Given the description of an element on the screen output the (x, y) to click on. 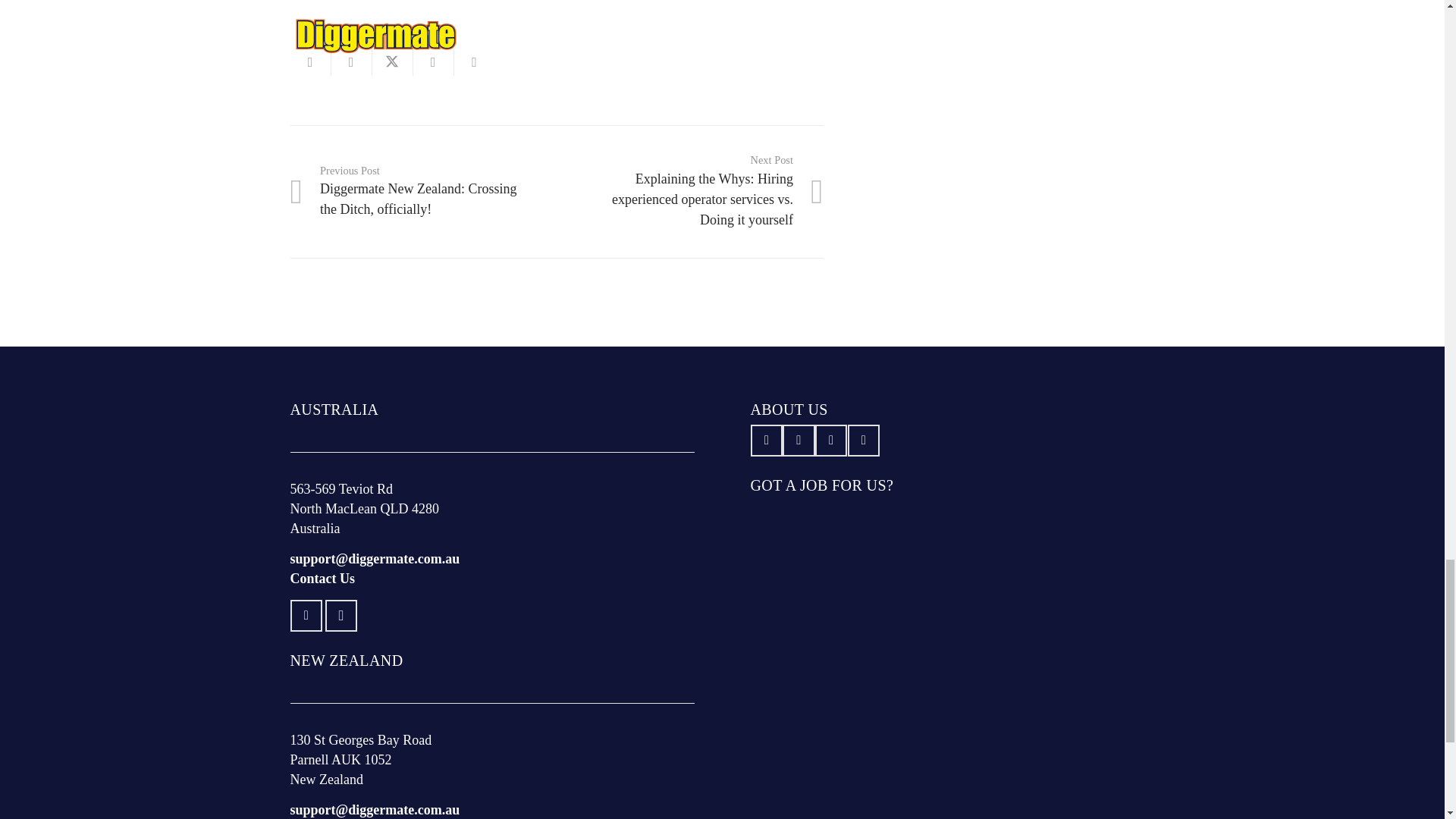
Email this (309, 62)
Facebook (305, 615)
Share this (432, 62)
Pin this (473, 62)
Tweet this (391, 62)
Diggermate New Zealand: Crossing the Ditch, officially! (422, 191)
Share this (350, 62)
